Given the description of an element on the screen output the (x, y) to click on. 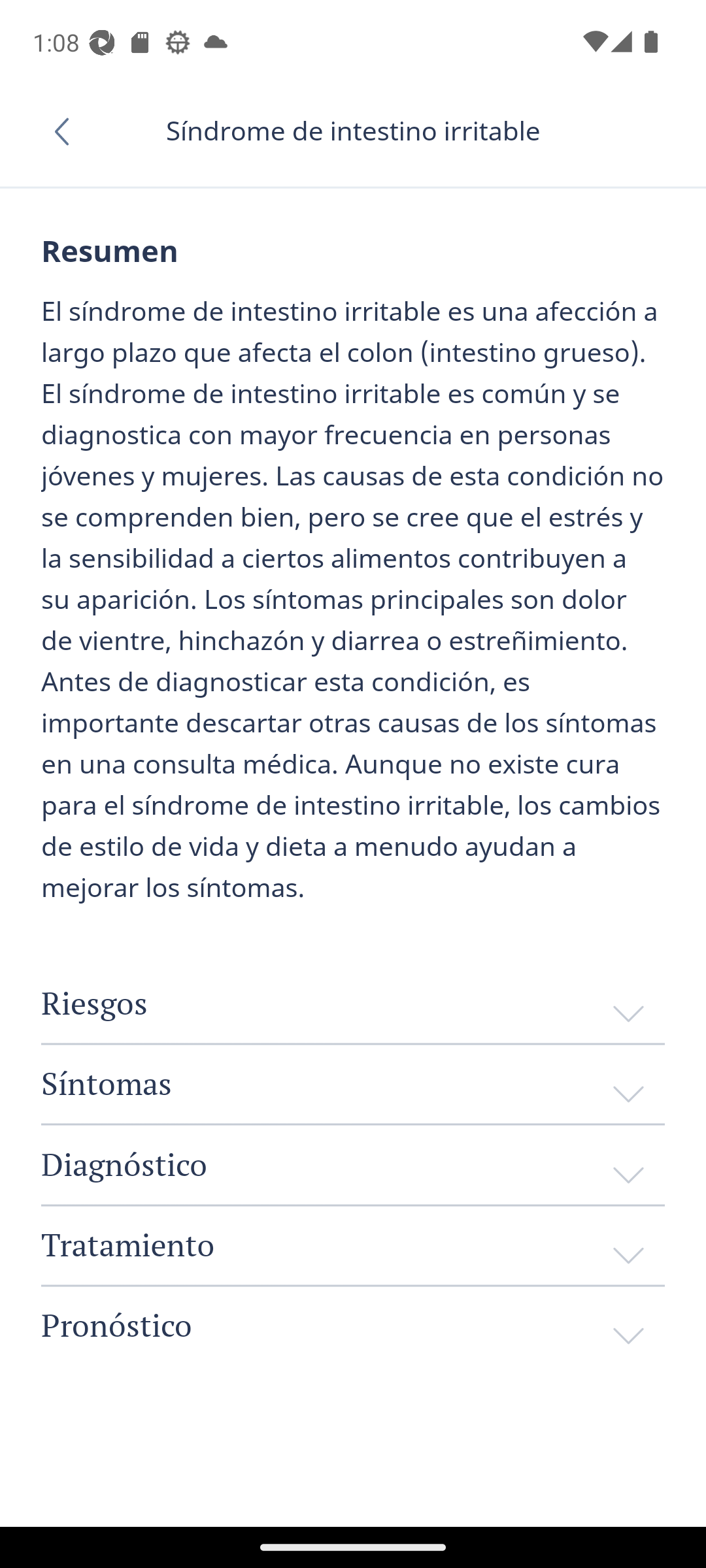
Go back, Navigates to the previous screen (68, 131)
Riesgos  (352, 1003)
Síntomas  (352, 1083)
Diagnóstico  (352, 1164)
Tratamiento  (352, 1244)
Pronóstico  (352, 1324)
